Given the description of an element on the screen output the (x, y) to click on. 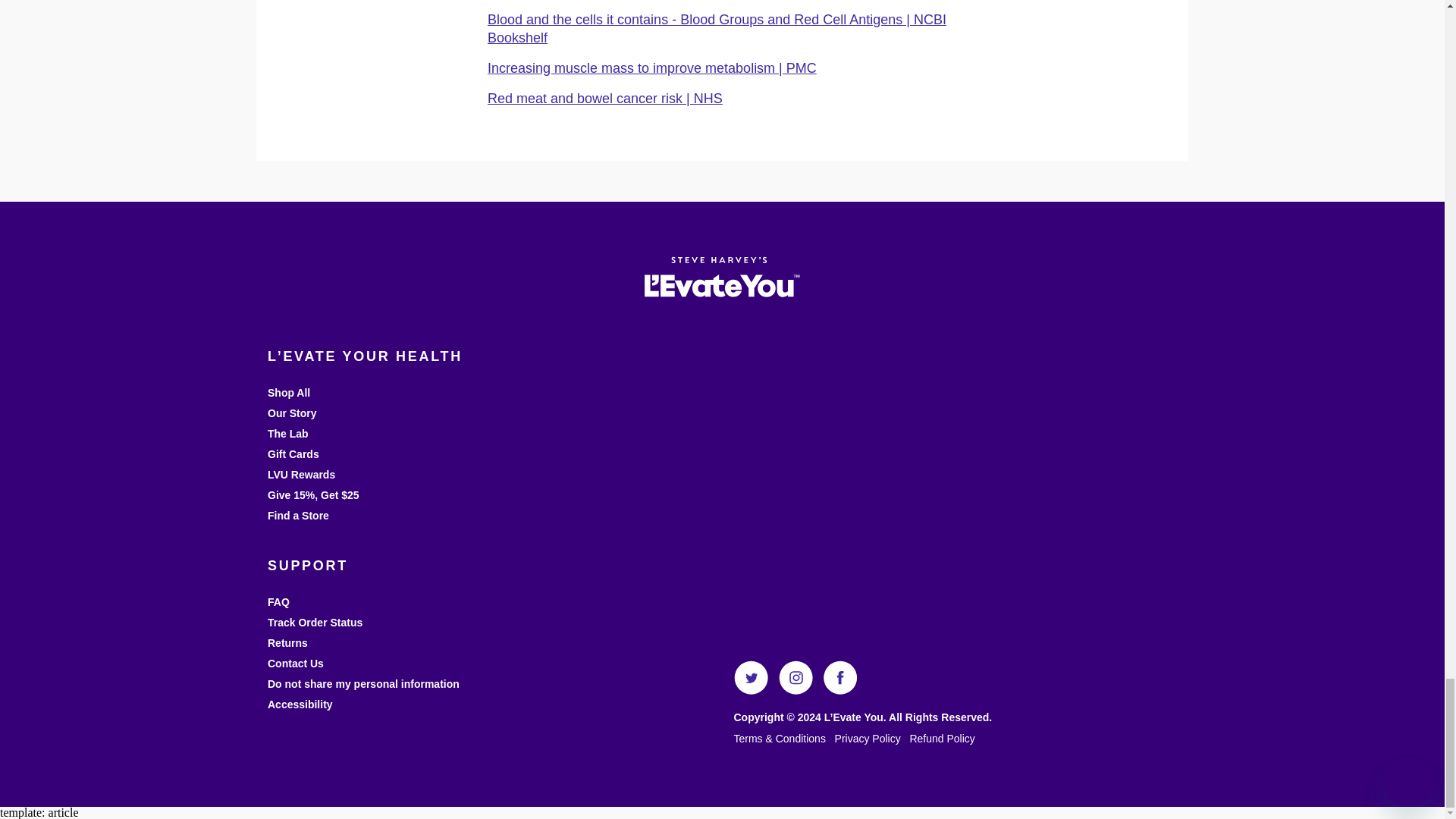
Follow L'Evate You on Twitter (750, 689)
Follow L'Evate You on Instagram (794, 689)
Follow L'Evate You on Facebook (840, 689)
